Given the description of an element on the screen output the (x, y) to click on. 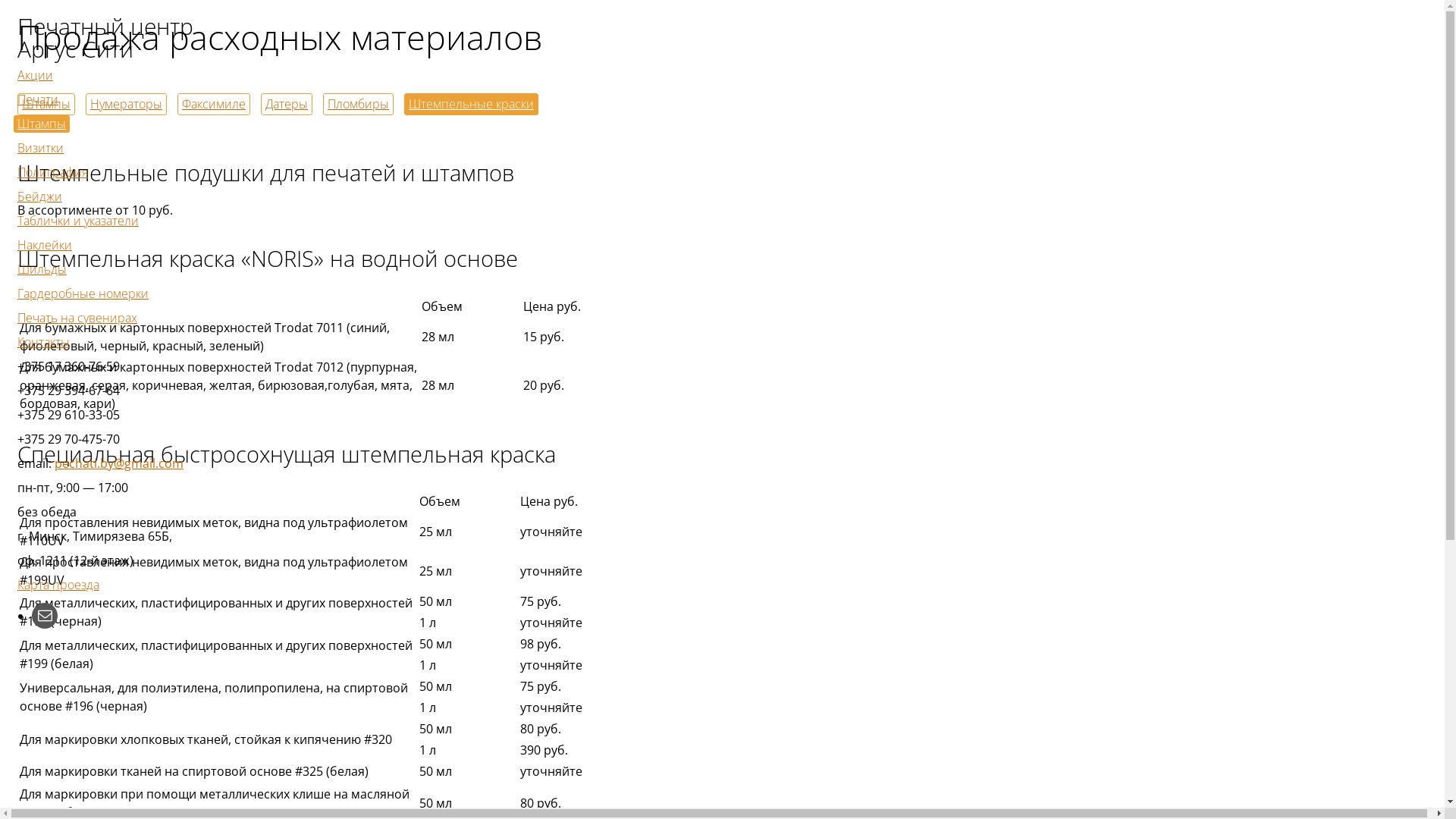
pechati.by@gmail.com Element type: text (118, 463)
